Given the description of an element on the screen output the (x, y) to click on. 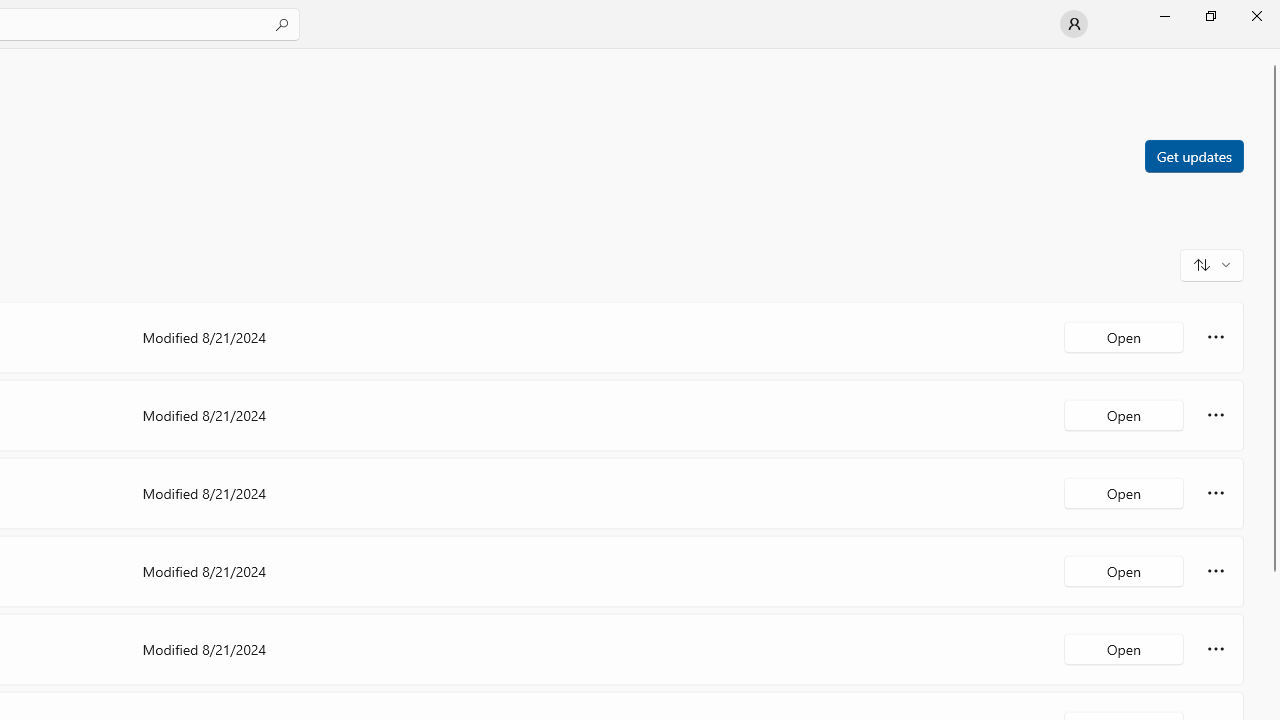
User profile (1073, 24)
Open (1123, 648)
Sort and filter (1212, 263)
More options (1215, 648)
Minimize Microsoft Store (1164, 15)
Close Microsoft Store (1256, 15)
Vertical Small Decrease (1272, 55)
Restore Microsoft Store (1210, 15)
Get updates (1193, 155)
